Given the description of an element on the screen output the (x, y) to click on. 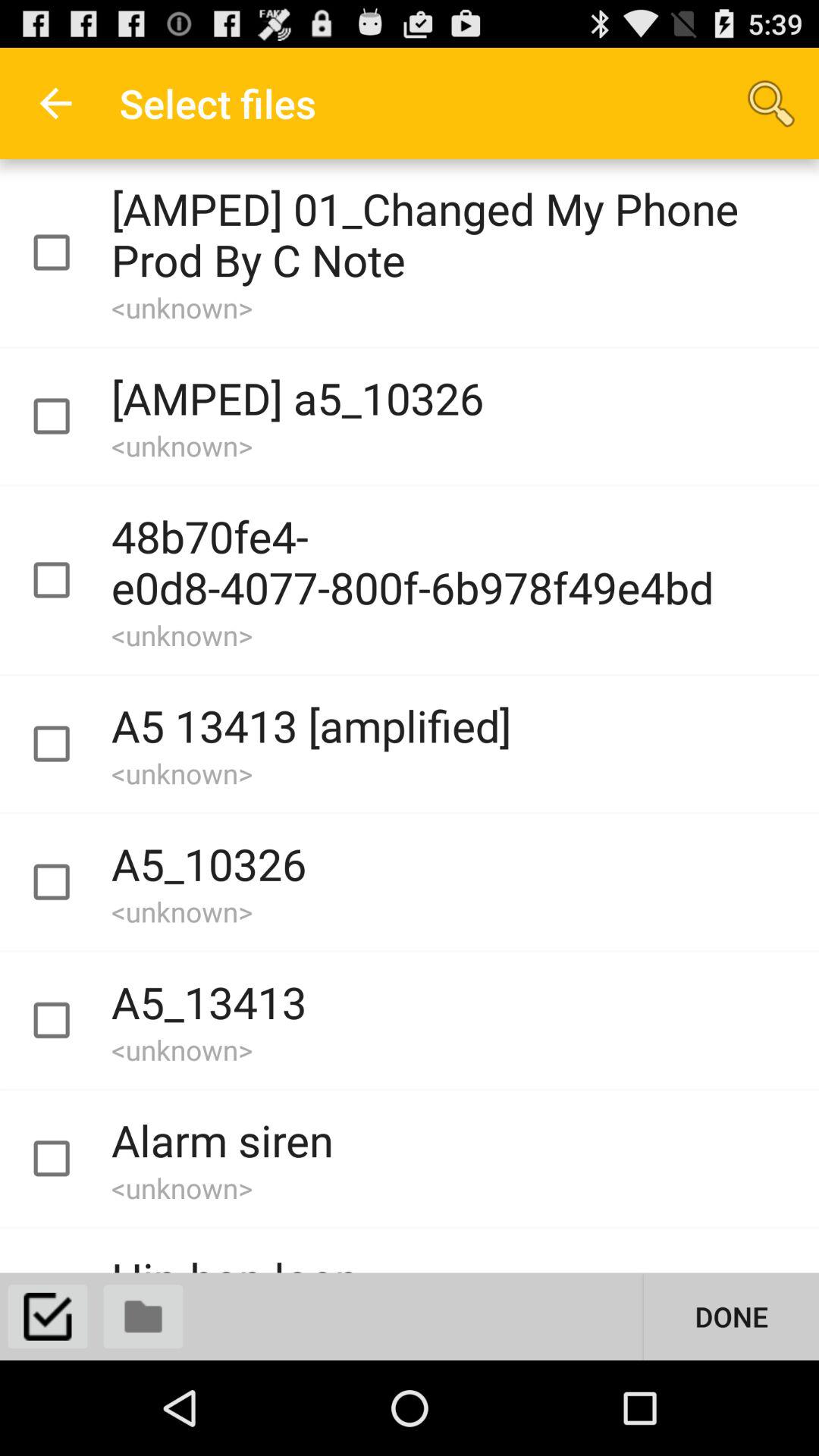
select file to amplify (65, 882)
